Given the description of an element on the screen output the (x, y) to click on. 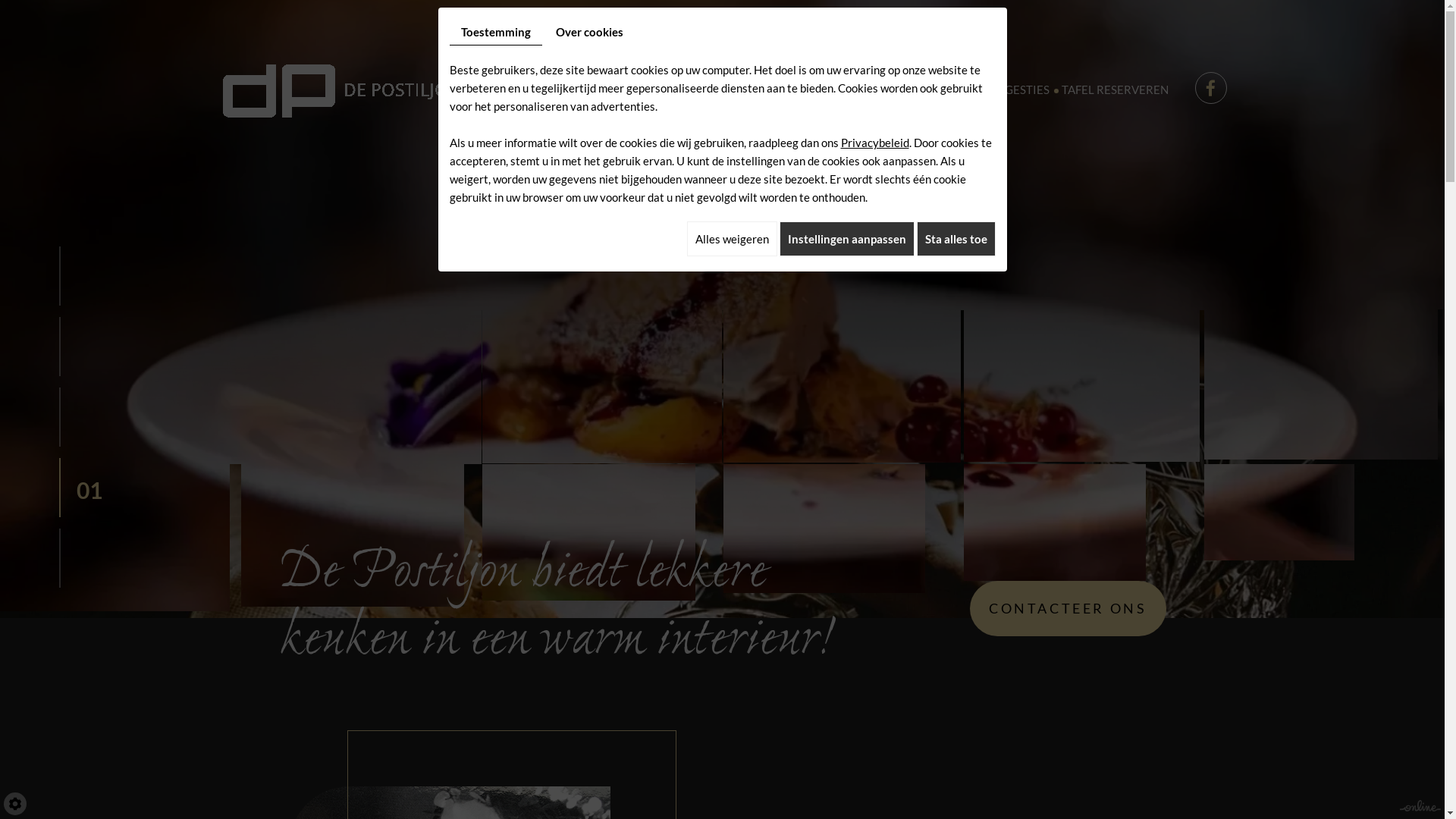
BRASSERIE - RESTAURANT Element type: text (635, 89)
HOME Element type: text (535, 89)
Over cookies Element type: text (589, 31)
Instellingen aanpassen Element type: text (846, 238)
Sta alles toe Element type: text (955, 238)
SUGGESTIES Element type: text (1014, 89)
FEESTMENU Element type: text (800, 89)
Toestemming Element type: text (494, 31)
TAFEL RESERVEREN Element type: text (1114, 89)
CONTACTEER ONS Element type: text (1067, 608)
Alles weigeren Element type: text (732, 238)
Privacybeleid Element type: text (874, 142)
Brasserie-Restaurant De Postiljon - Restaurant Element type: hover (340, 87)
KAART Element type: text (737, 89)
LUNCHMENU Element type: text (932, 89)
Cookie-instelling bewerken Element type: text (14, 803)
